Given the description of an element on the screen output the (x, y) to click on. 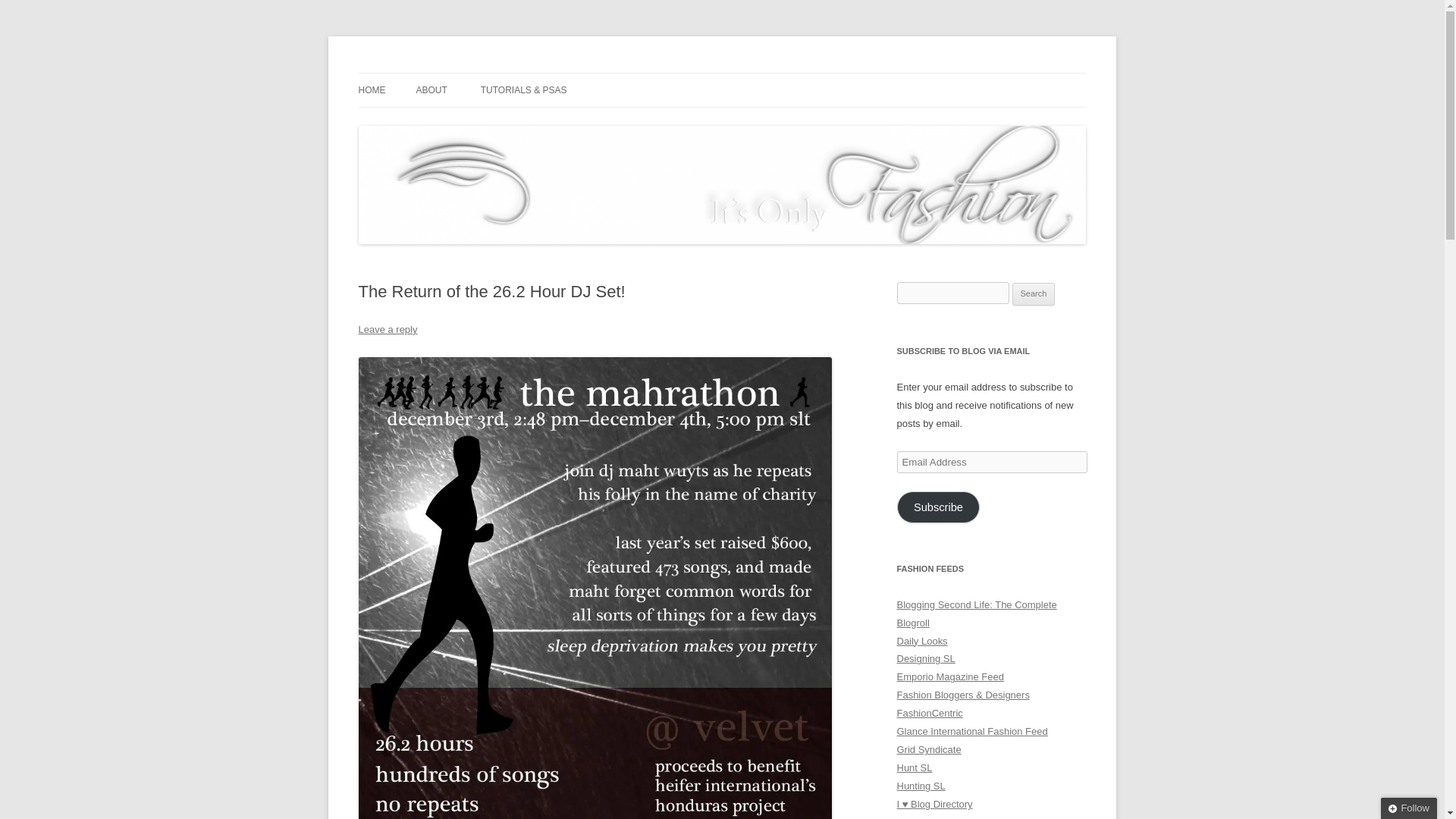
Emporio Magazine Feed (949, 676)
ABOUT (430, 90)
Daily Looks (921, 641)
Designing SL (925, 658)
Subscribe (937, 507)
Blogging Second Life: The Complete Blogroll (976, 613)
Search (1033, 293)
FashionCentric (929, 713)
